Given the description of an element on the screen output the (x, y) to click on. 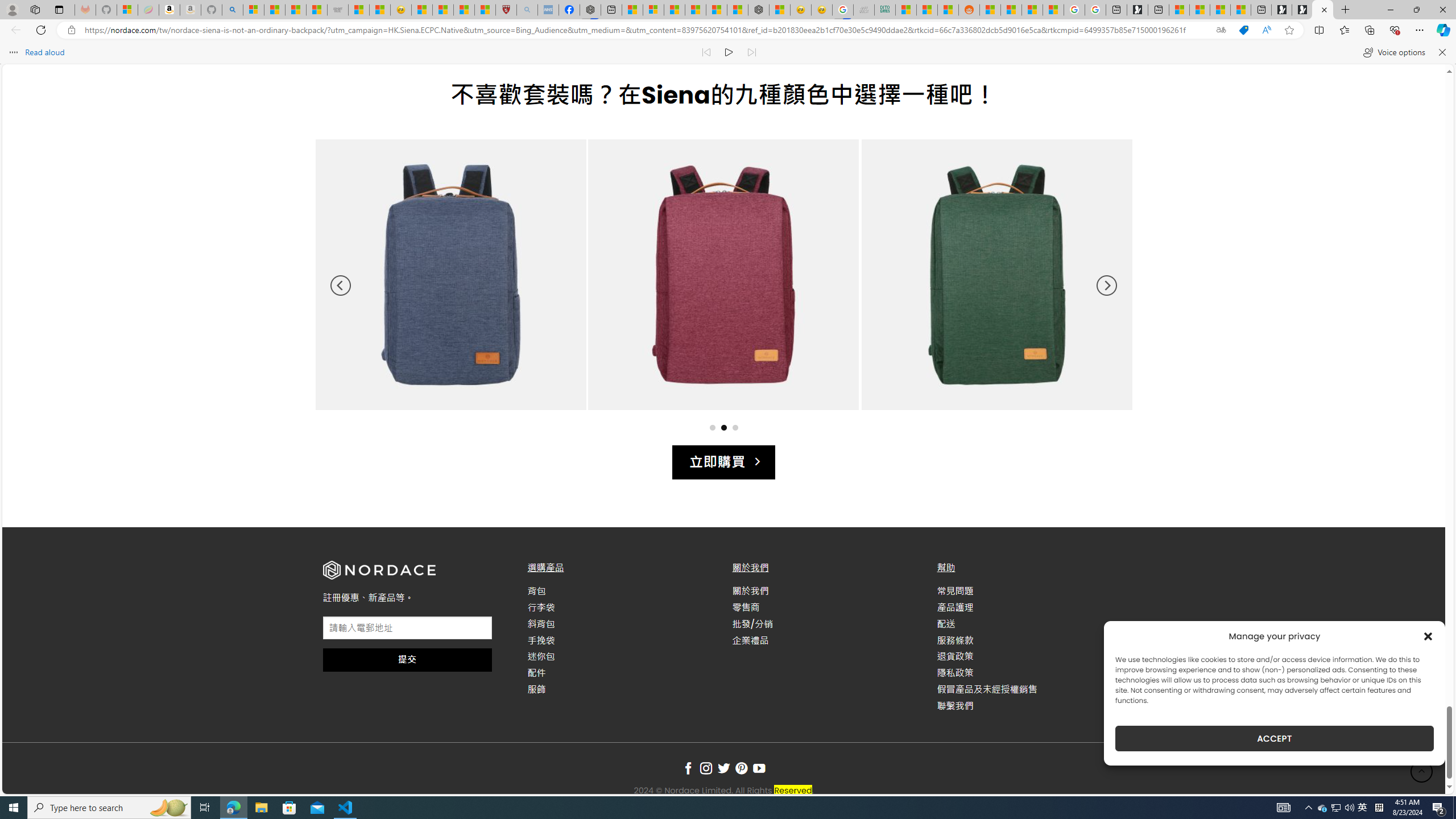
ACCEPT (1274, 738)
These 3 Stocks Pay You More Than 5% to Own Them (1240, 9)
AutomationID: input_4_1 (406, 627)
Read next paragraph (750, 52)
Continue to read aloud (Ctrl+Shift+U) (729, 52)
AutomationID: field_4_1 (406, 628)
